Given the description of an element on the screen output the (x, y) to click on. 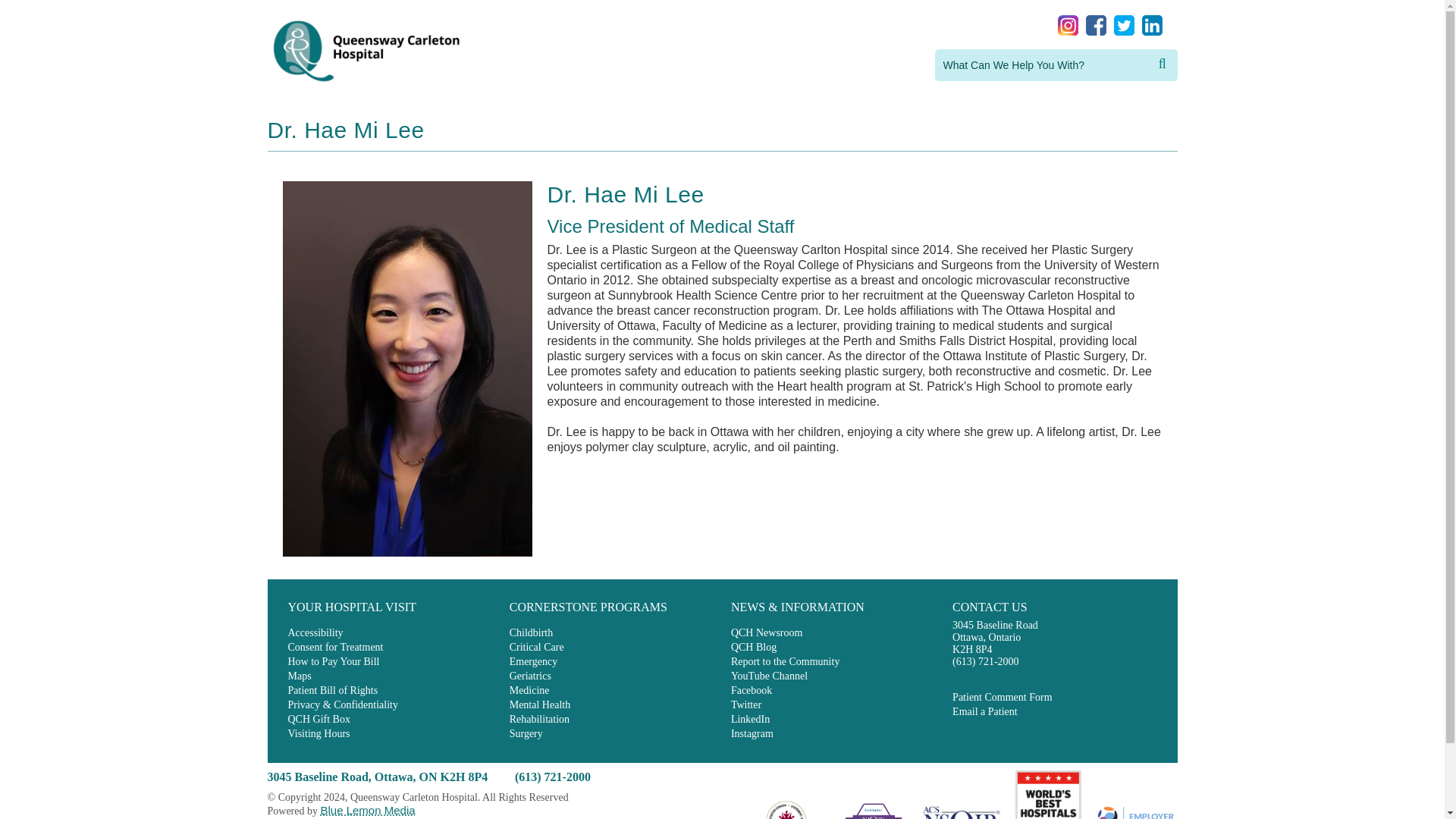
Skip to main content (18, 12)
What Can We Help You With? (1043, 64)
Skip content (18, 12)
